Given the description of an element on the screen output the (x, y) to click on. 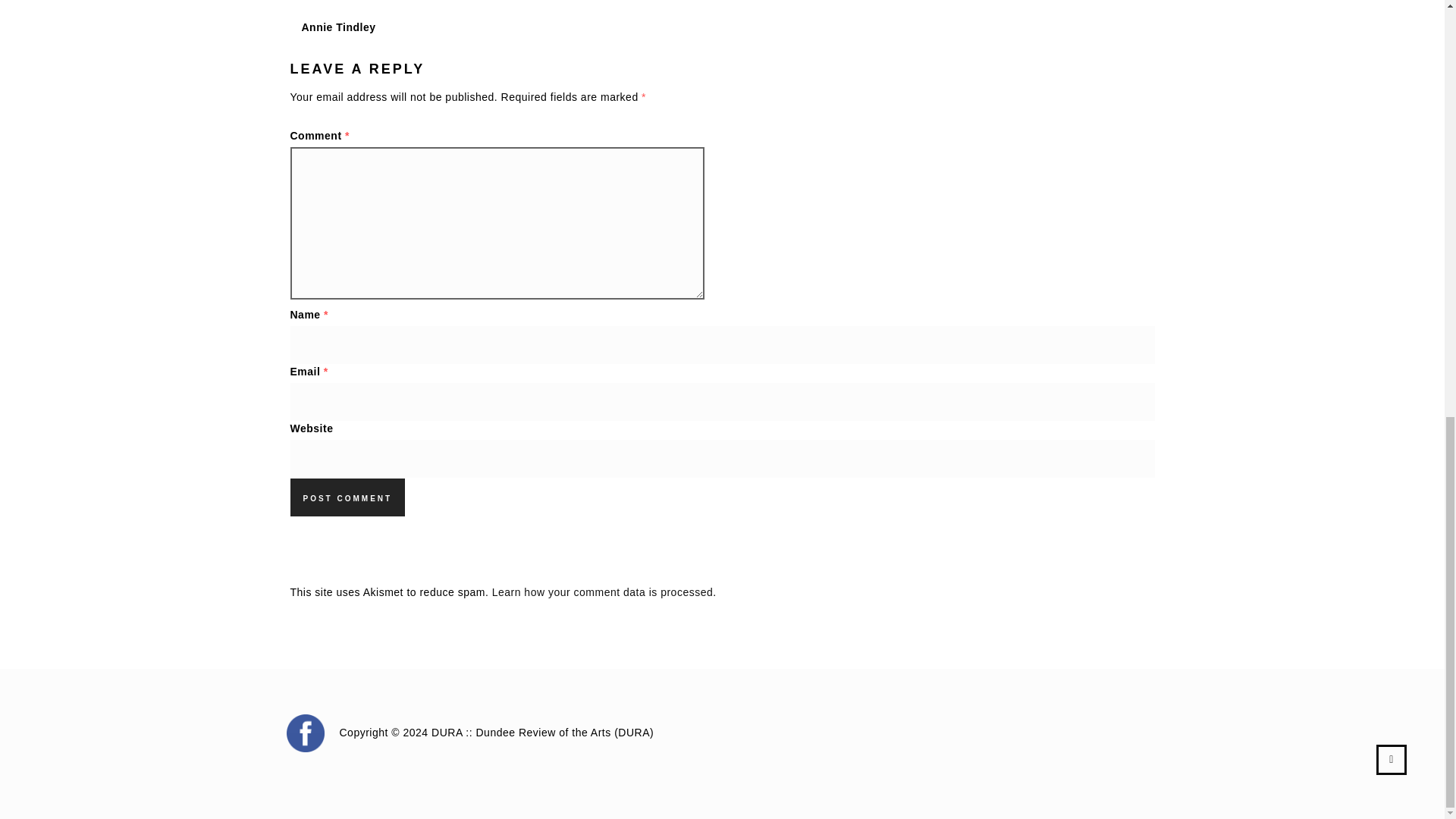
Learn how your comment data is processed (602, 592)
Post Comment (346, 497)
Post Comment (346, 497)
